Given the description of an element on the screen output the (x, y) to click on. 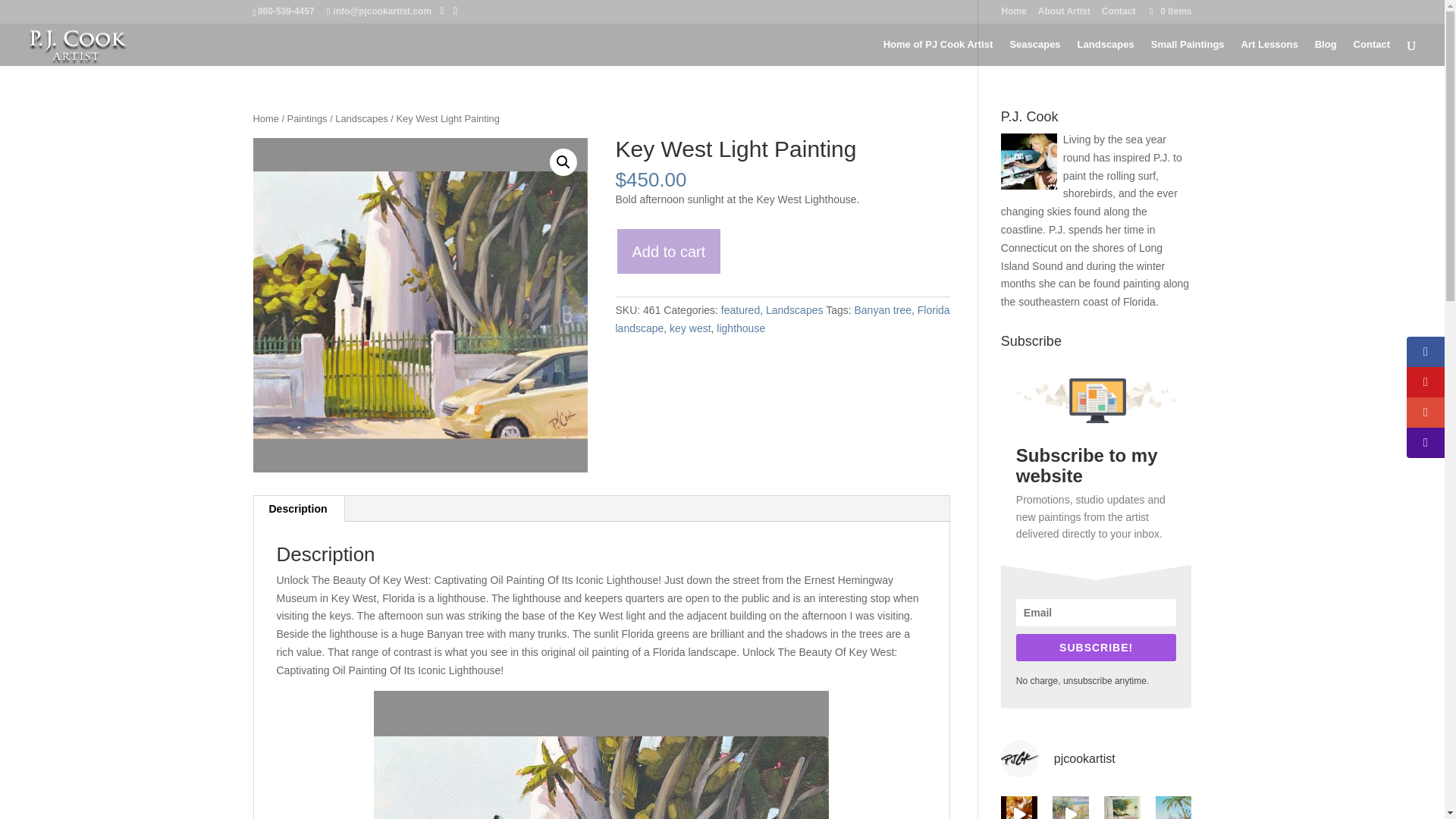
Landscapes (1105, 52)
Add to cart (668, 251)
8x10-oil-painting-key-west-lighthouse-pjcook-artist (420, 305)
Florida landscape (782, 318)
Art Lessons (1269, 52)
Shoreline Scenes (1034, 52)
Home of PJ Cook Artist (937, 52)
Home (1013, 14)
lighthouse (740, 328)
Landscapes and Birds (1105, 52)
